Given the description of an element on the screen output the (x, y) to click on. 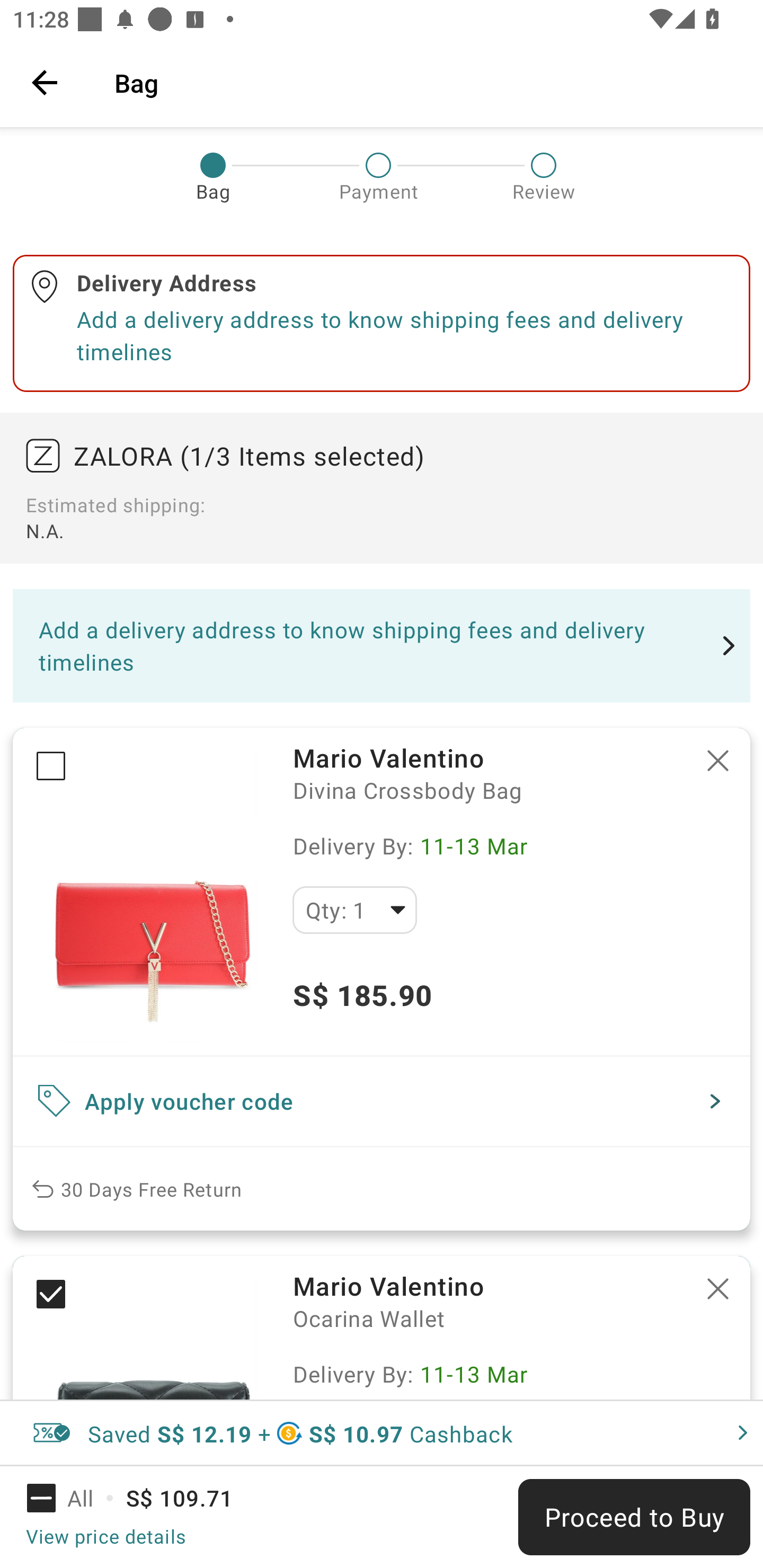
Navigate up (44, 82)
Bag (426, 82)
Qty: 1 (354, 909)
Apply voucher code (381, 1101)
Saved S$ 12.19 +   S$ 10.97 Cashback (381, 1432)
All (72, 1497)
Proceed to Buy (634, 1516)
View price details (105, 1535)
